Given the description of an element on the screen output the (x, y) to click on. 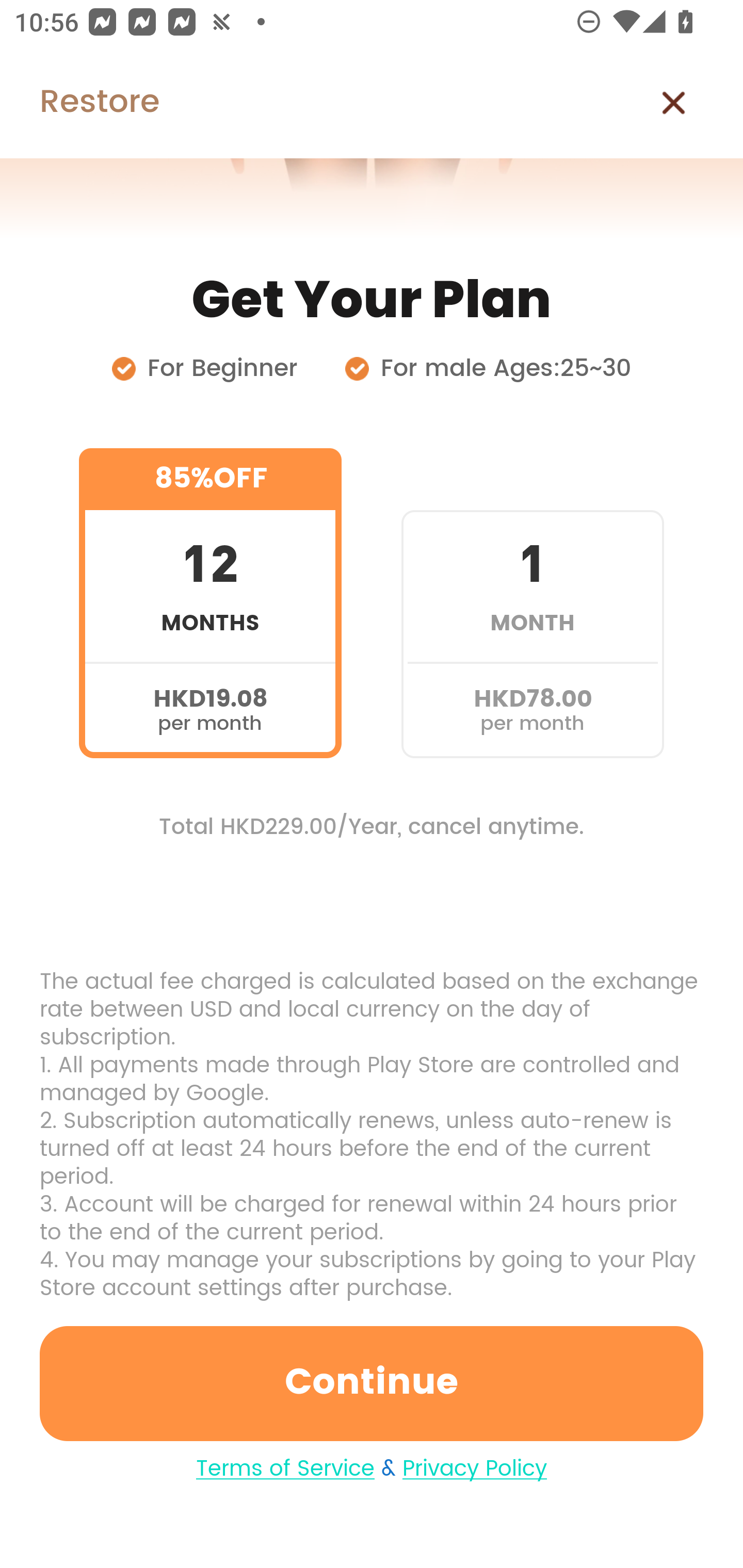
Restore (79, 102)
85%OFF 12 MONTHS per month HKD19.08 (209, 603)
1 MONTH per month HKD78.00 (532, 603)
Continue (371, 1383)
